Given the description of an element on the screen output the (x, y) to click on. 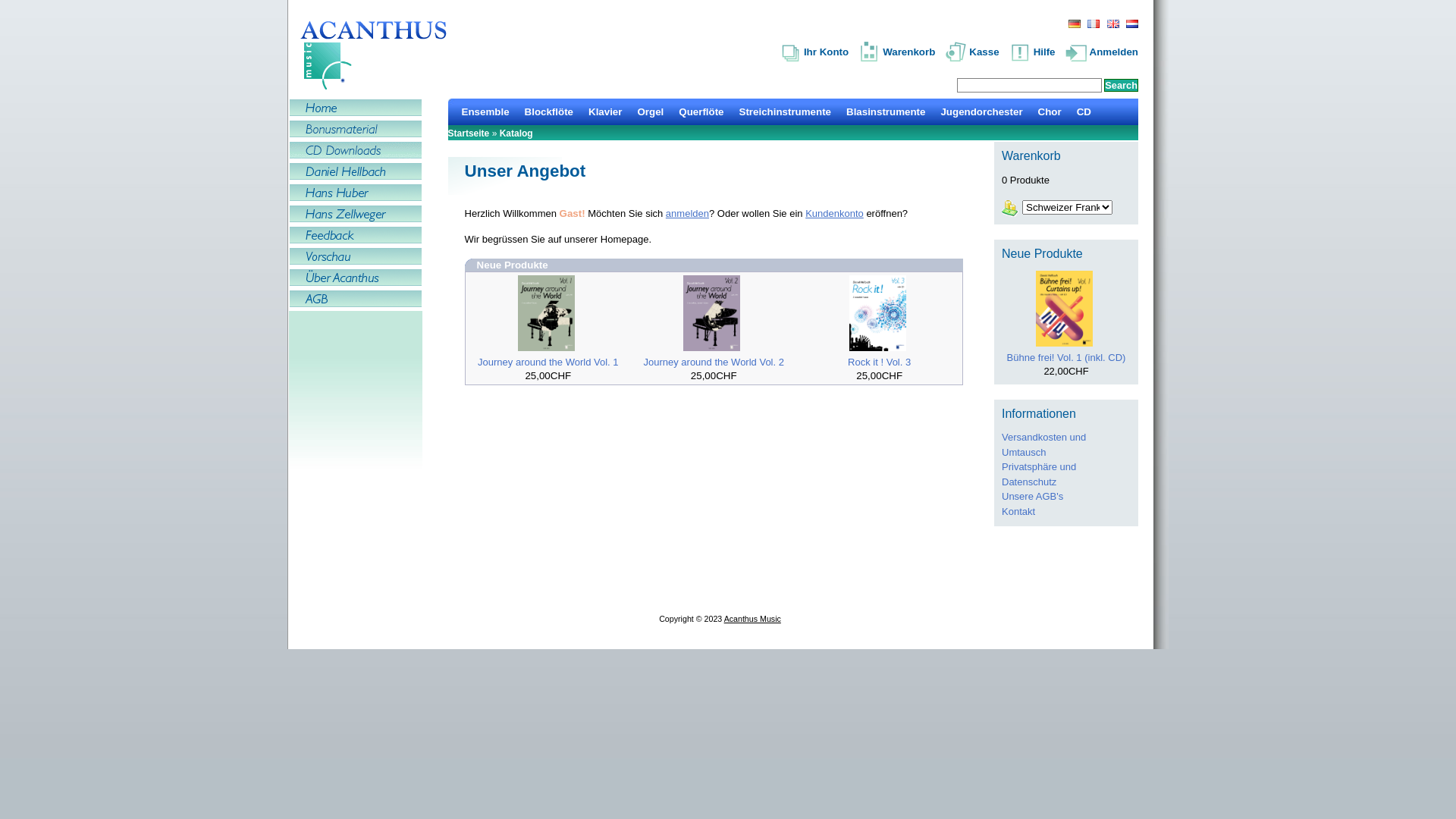
Streichinstrumente Element type: text (784, 111)
Startseite Element type: text (468, 133)
 Anmelden  Element type: hover (1077, 51)
Go Element type: text (7, 6)
 Journey around the World Vol. 1  Element type: hover (545, 313)
 Rock it ! Vol. 3  Element type: hover (877, 313)
Search Element type: text (1121, 84)
Klavier Element type: text (604, 111)
Orgel Element type: text (650, 111)
 Dutch  Element type: hover (1132, 23)
Warenkorb Element type: text (893, 51)
 Ihr Konto  Element type: hover (791, 51)
Hilfe Element type: text (1027, 51)
 Deutsch  Element type: hover (1074, 23)
 Kasse  Element type: hover (956, 51)
Unsere AGB's Element type: text (1032, 496)
 Warenkorb  Element type: hover (870, 51)
Ihr Konto Element type: text (810, 51)
Jugendorchester Element type: text (981, 111)
 Acanthus Music  Element type: hover (375, 53)
Chor Element type: text (1049, 111)
Anmelden Element type: text (1097, 51)
Katalog Element type: text (516, 133)
Acanthus Music Element type: text (752, 618)
 Journey around the World Vol. 2  Element type: hover (711, 313)
Journey around the World Vol. 2 Element type: text (713, 361)
Ensemble Element type: text (485, 111)
CD Element type: text (1084, 111)
Journey around the World Vol. 1 Element type: text (547, 361)
 Hilfe  Element type: hover (1021, 51)
Kundenkonto Element type: text (834, 213)
Rock it ! Vol. 3 Element type: text (878, 361)
Versandkosten und Umtausch Element type: text (1043, 444)
anmelden Element type: text (687, 213)
Kontakt Element type: text (1018, 511)
 English  Element type: hover (1113, 23)
Blasinstrumente Element type: text (885, 111)
Kasse Element type: text (968, 51)
